Given the description of an element on the screen output the (x, y) to click on. 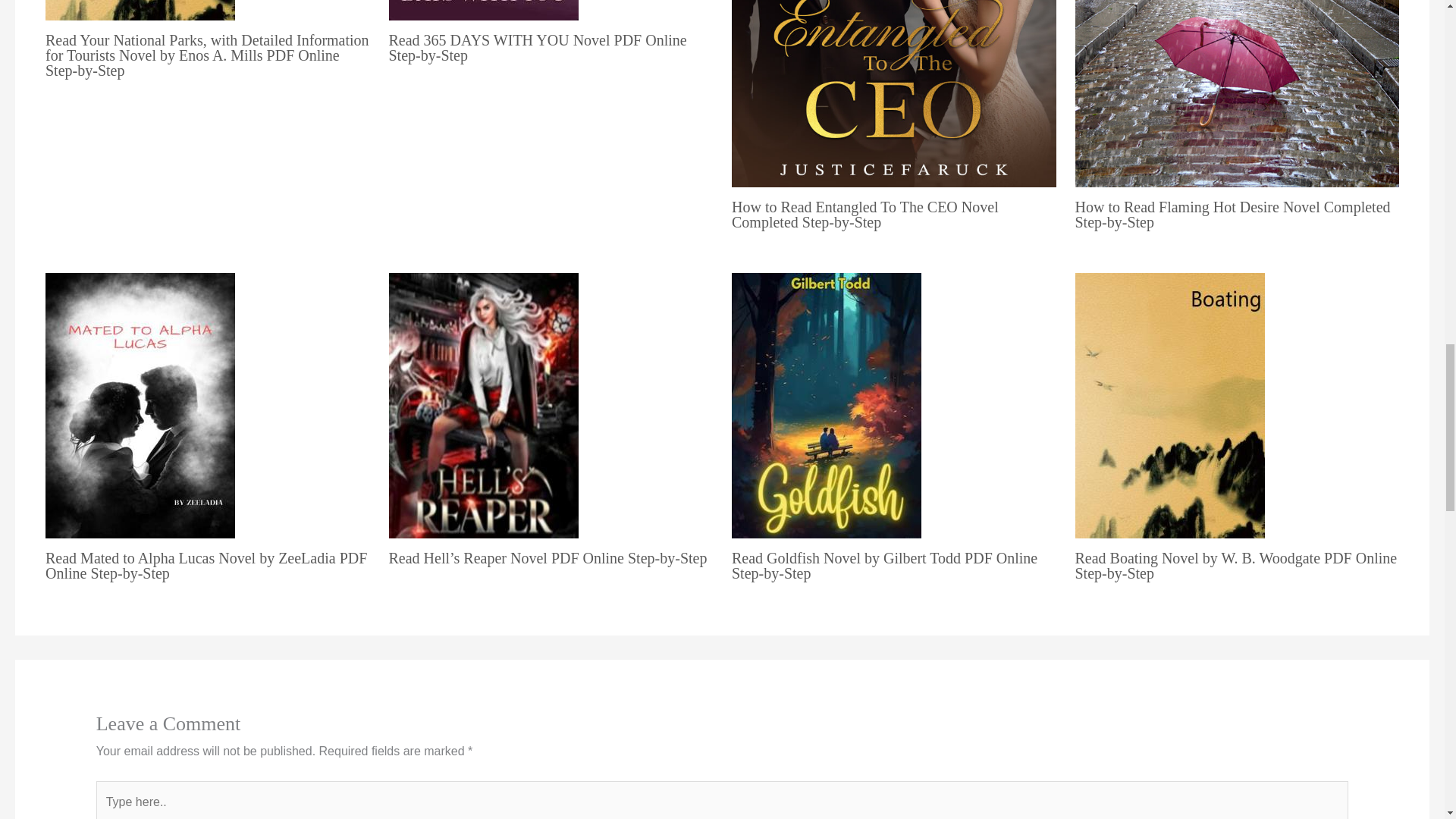
How to Read Flaming Hot Desire Novel Completed Step-by-Step (1232, 214)
Read Goldfish Novel by Gilbert Todd PDF Online Step-by-Step (884, 565)
Read 365 DAYS WITH YOU Novel PDF Online Step-by-Step (536, 47)
Read Boating Novel by W. B. Woodgate PDF Online Step-by-Step (1236, 565)
